Given the description of an element on the screen output the (x, y) to click on. 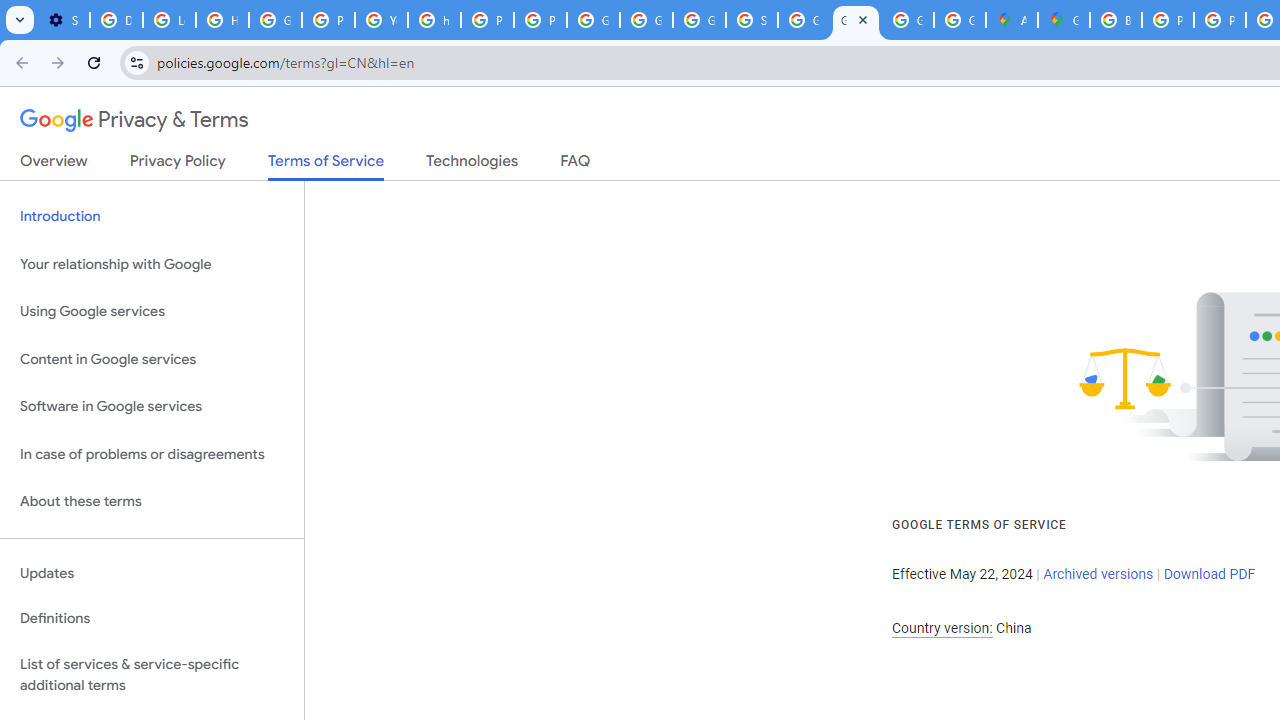
Privacy Policy (177, 165)
Delete photos & videos - Computer - Google Photos Help (116, 20)
Updates (152, 573)
https://scholar.google.com/ (434, 20)
Technologies (472, 165)
YouTube (381, 20)
Archived versions (1098, 574)
Country version: (942, 628)
List of services & service-specific additional terms (152, 674)
Privacy Help Center - Policies Help (1219, 20)
Terms of Service (326, 166)
